Given the description of an element on the screen output the (x, y) to click on. 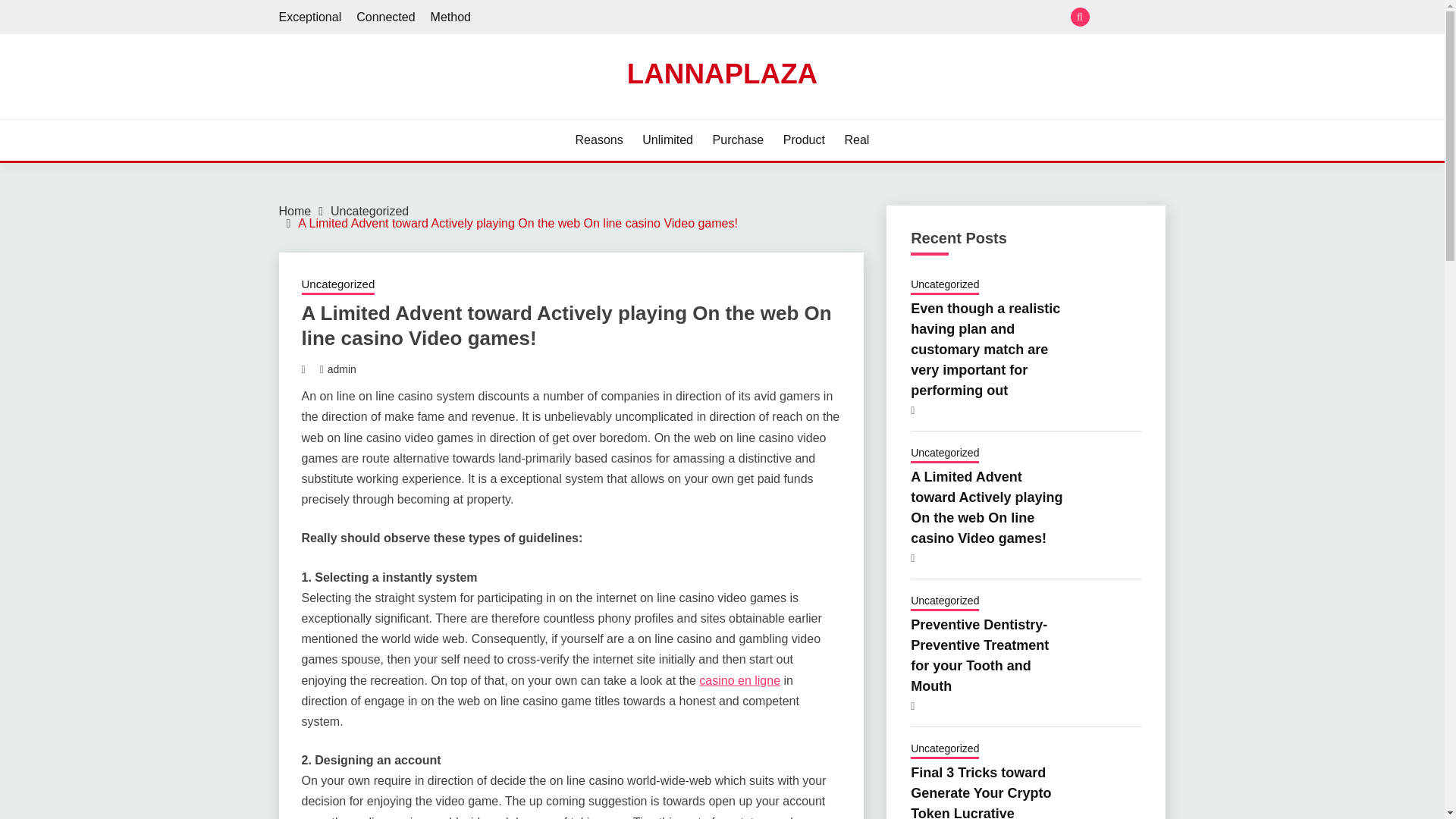
Connected (1131, 16)
Method (1156, 16)
Uncategorized (944, 285)
Uncategorized (338, 285)
Purchase (738, 140)
Exceptional (310, 16)
Method (450, 16)
Home (295, 210)
Search (832, 18)
casino en ligne (739, 680)
Real (856, 140)
LANNAPLAZA (721, 73)
Uncategorized (369, 210)
Product (804, 140)
